Given the description of an element on the screen output the (x, y) to click on. 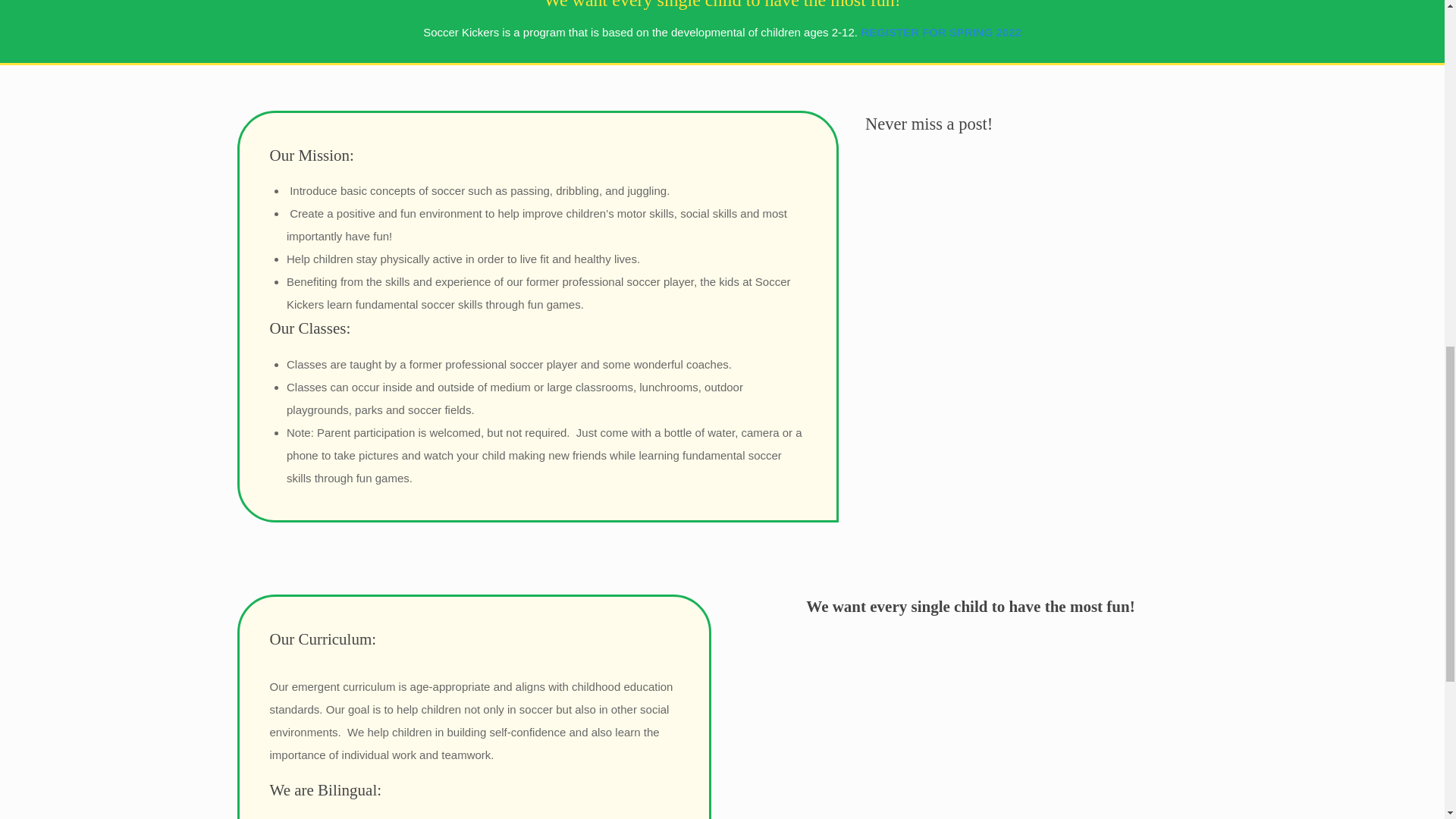
Soccer Kickers (970, 730)
REGISTER FOR SPRING 2022 (941, 31)
